Given the description of an element on the screen output the (x, y) to click on. 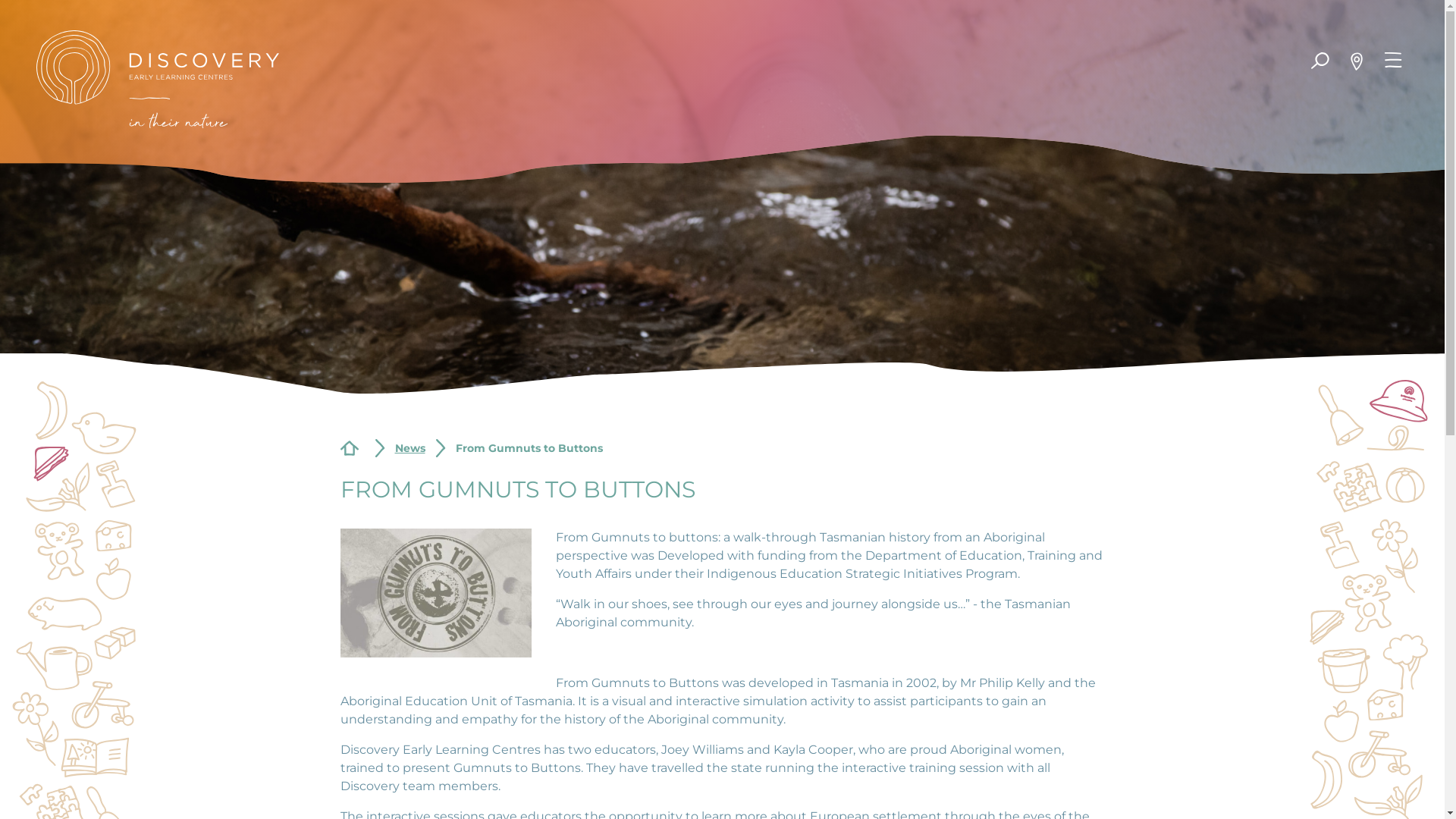
News Element type: text (409, 448)
Locations Element type: text (1356, 61)
Search Element type: text (1320, 60)
